Given the description of an element on the screen output the (x, y) to click on. 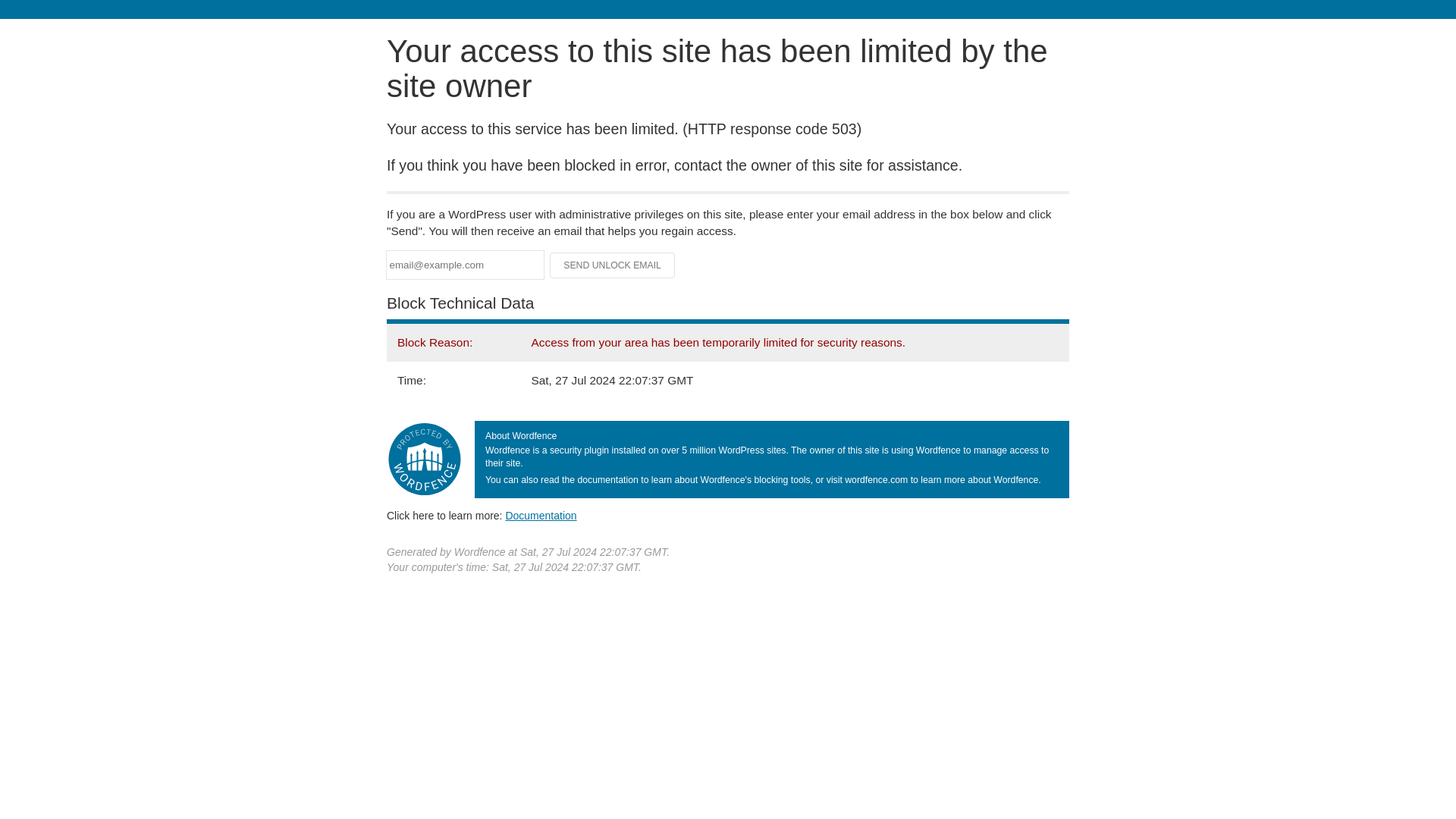
Send Unlock Email (612, 265)
Documentation (540, 515)
Send Unlock Email (612, 265)
